Given the description of an element on the screen output the (x, y) to click on. 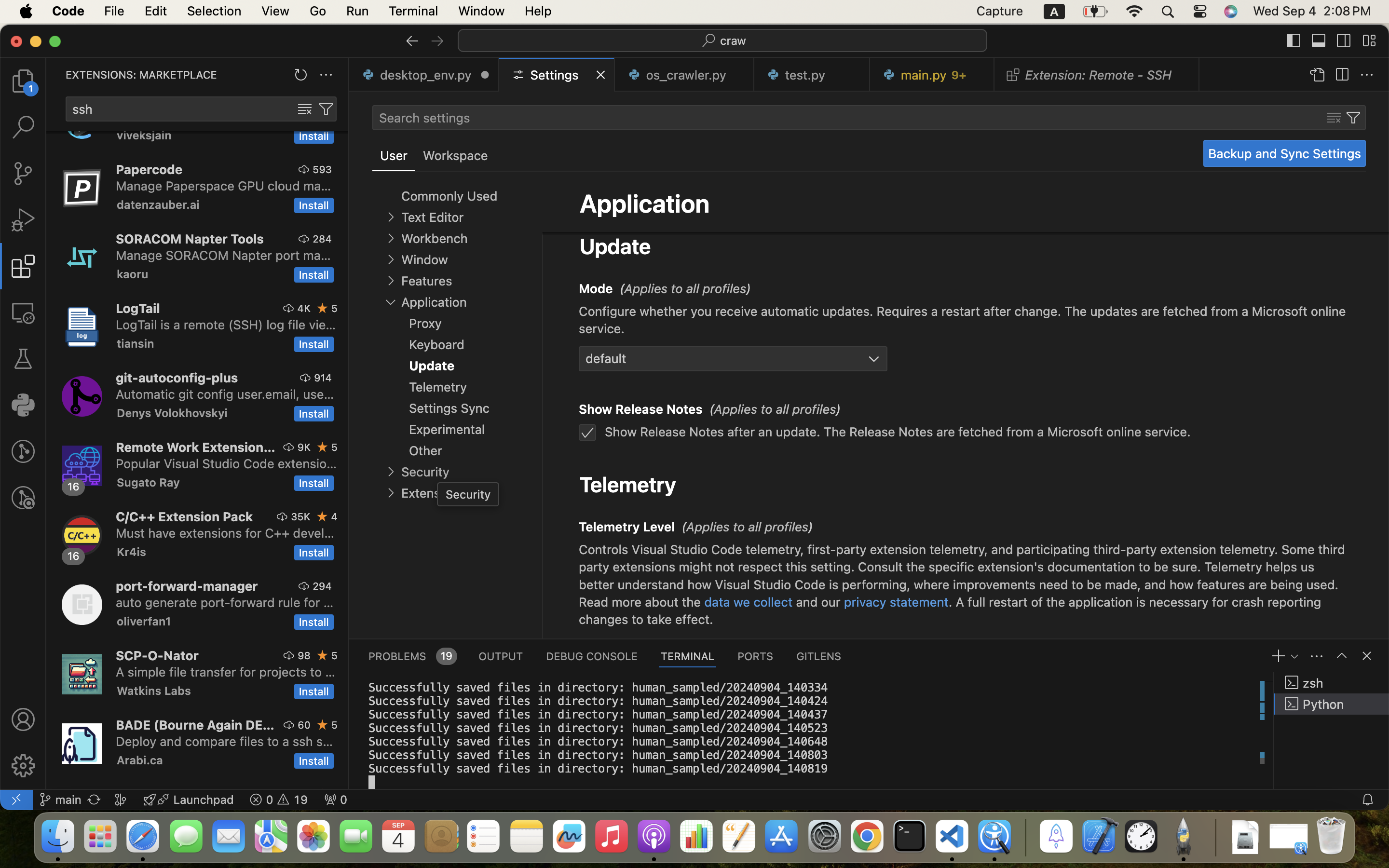
Popular Visual Studio Code extensions for Remote Work Element type: AXStaticText (226, 463)
 Element type: AXStaticText (1366, 74)
datenzauber.ai Element type: AXStaticText (157, 204)
Settings Sync Element type: AXStaticText (449, 408)
auto generate port-forward rule for your vscode ssh connection. Element type: AXStaticText (224, 602)
